Given the description of an element on the screen output the (x, y) to click on. 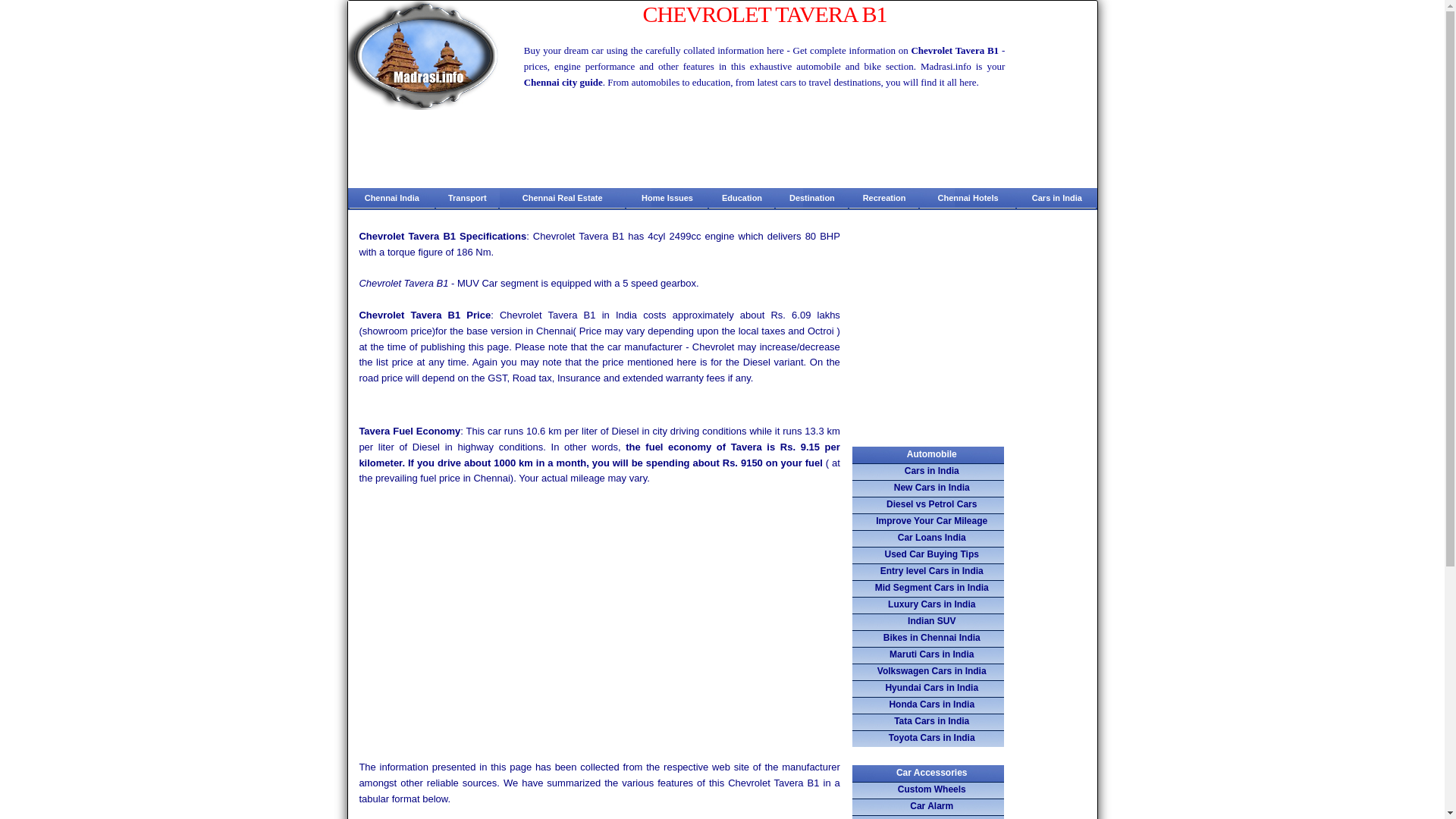
Chennai Real Estate (562, 198)
Diesel vs Petrol Cars (927, 504)
Chennai Real Estate (562, 198)
Chennai India (391, 198)
Indian SUV (927, 621)
Volkswagen Cars in India (927, 671)
Car Alarm (927, 806)
Destination (811, 198)
Mid Segment Cars in India (927, 588)
Tata Cars in India (927, 721)
